Given the description of an element on the screen output the (x, y) to click on. 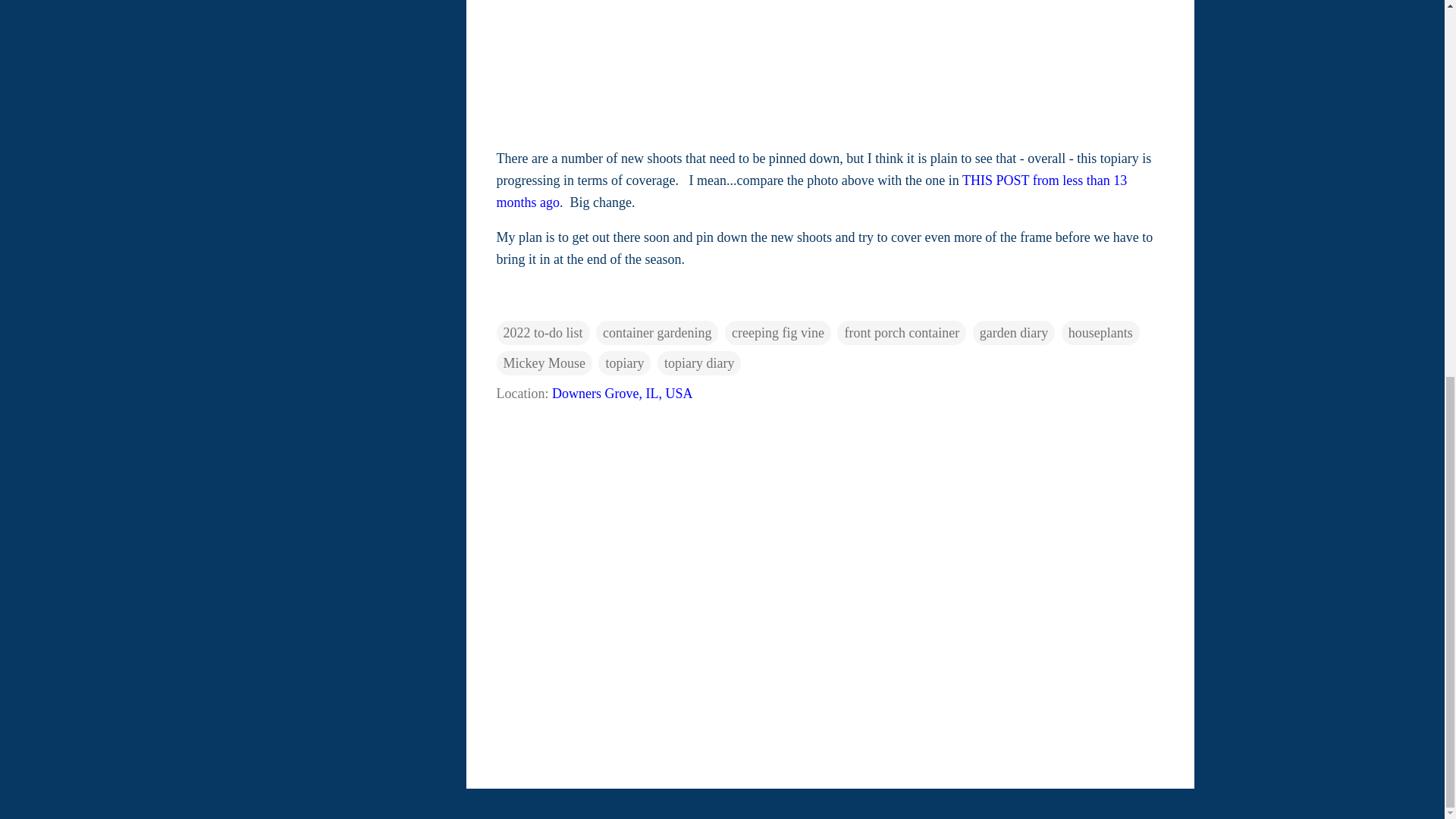
garden diary (1013, 332)
topiary diary (699, 363)
topiary (624, 363)
container gardening (656, 332)
creeping fig vine (778, 332)
2022 to-do list (542, 332)
Downers Grove, IL, USA (622, 393)
THIS POST from less than 13 months ago (811, 190)
front porch container (901, 332)
houseplants (1100, 332)
Mickey Mouse (543, 363)
